Given the description of an element on the screen output the (x, y) to click on. 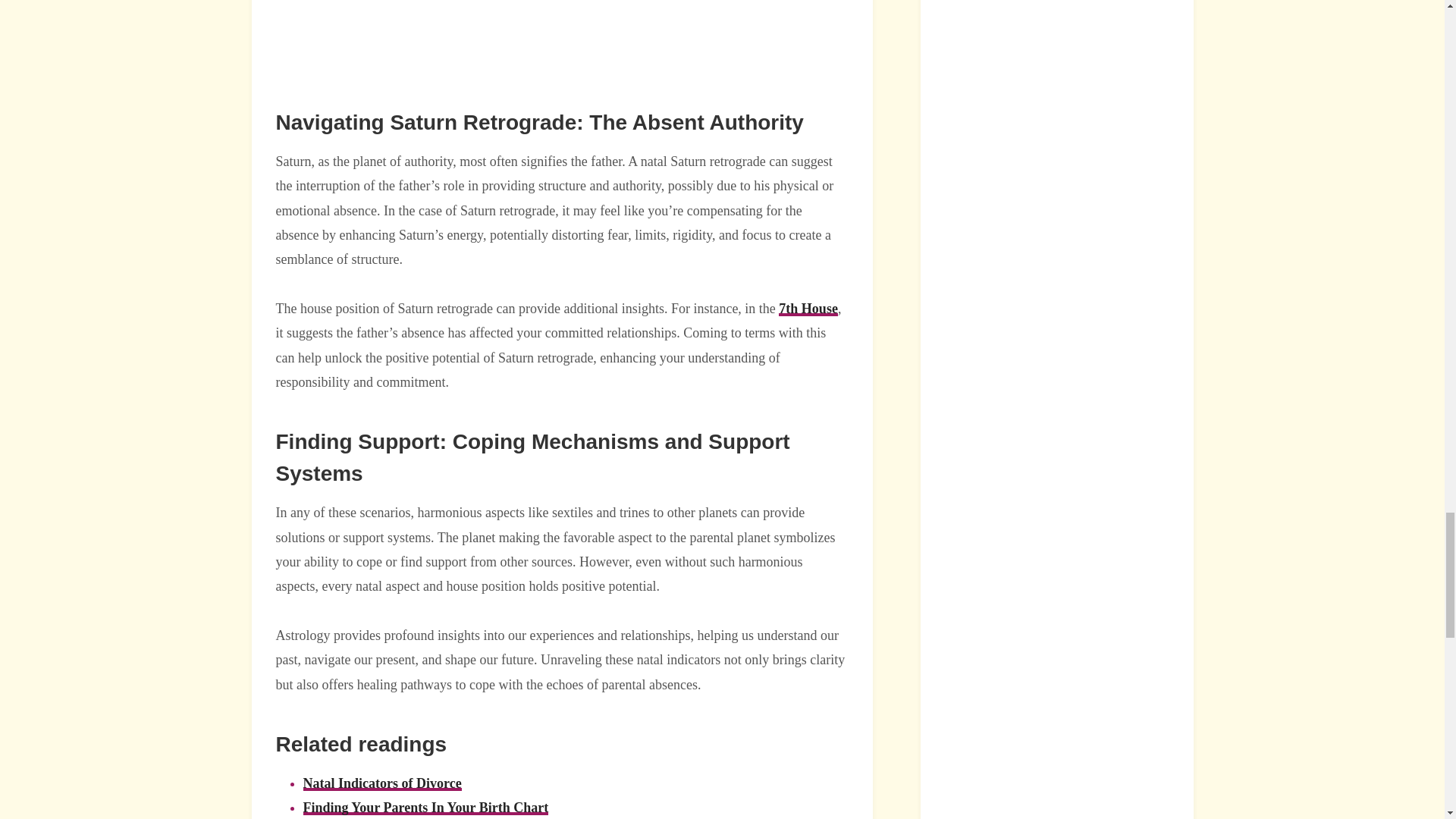
7th House (808, 308)
Finding Your Parents In Your Birth Chart (425, 807)
Natal Indicators of Divorce (381, 783)
7th House (808, 308)
